Given the description of an element on the screen output the (x, y) to click on. 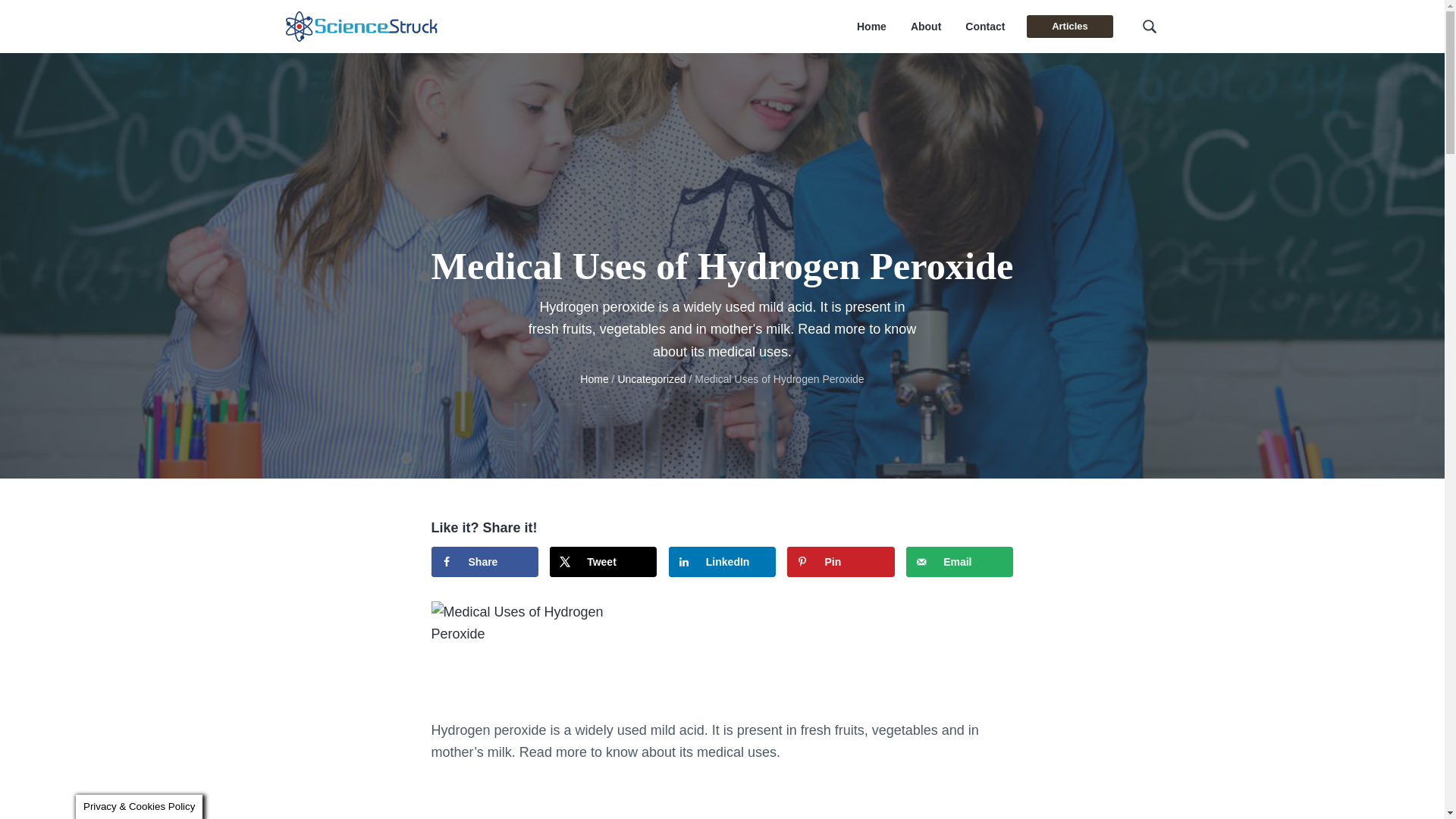
Search (60, 18)
Share on X (603, 562)
Articles (1068, 25)
Home (593, 378)
Pin (840, 562)
Uncategorized (651, 378)
Contact (984, 27)
Send over email (959, 562)
Save to Pinterest (840, 562)
Email (959, 562)
Share on Facebook (483, 562)
Share on LinkedIn (722, 562)
LinkedIn (722, 562)
Tweet (603, 562)
